Given the description of an element on the screen output the (x, y) to click on. 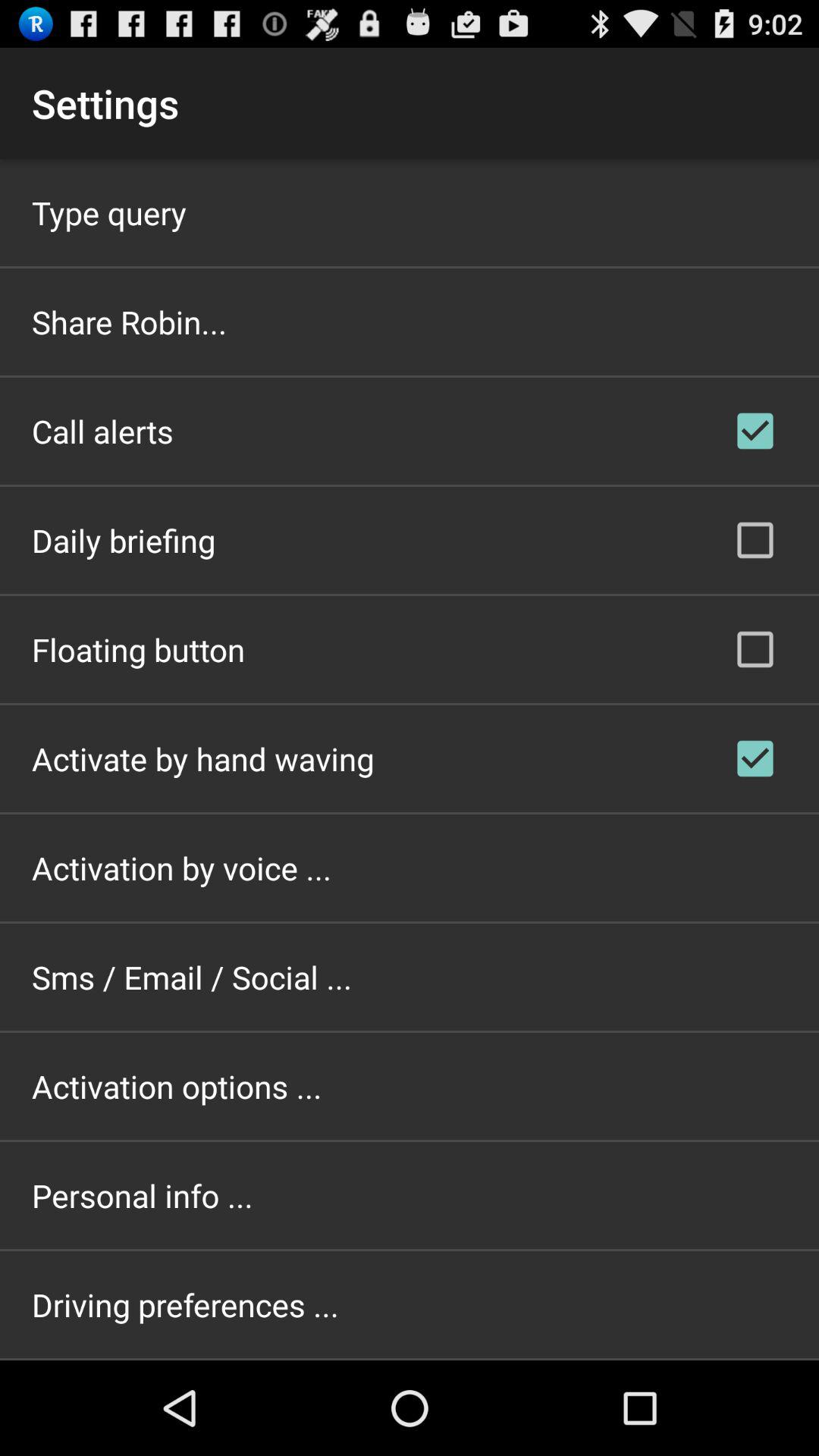
open item below the activation options ... item (142, 1195)
